Given the description of an element on the screen output the (x, y) to click on. 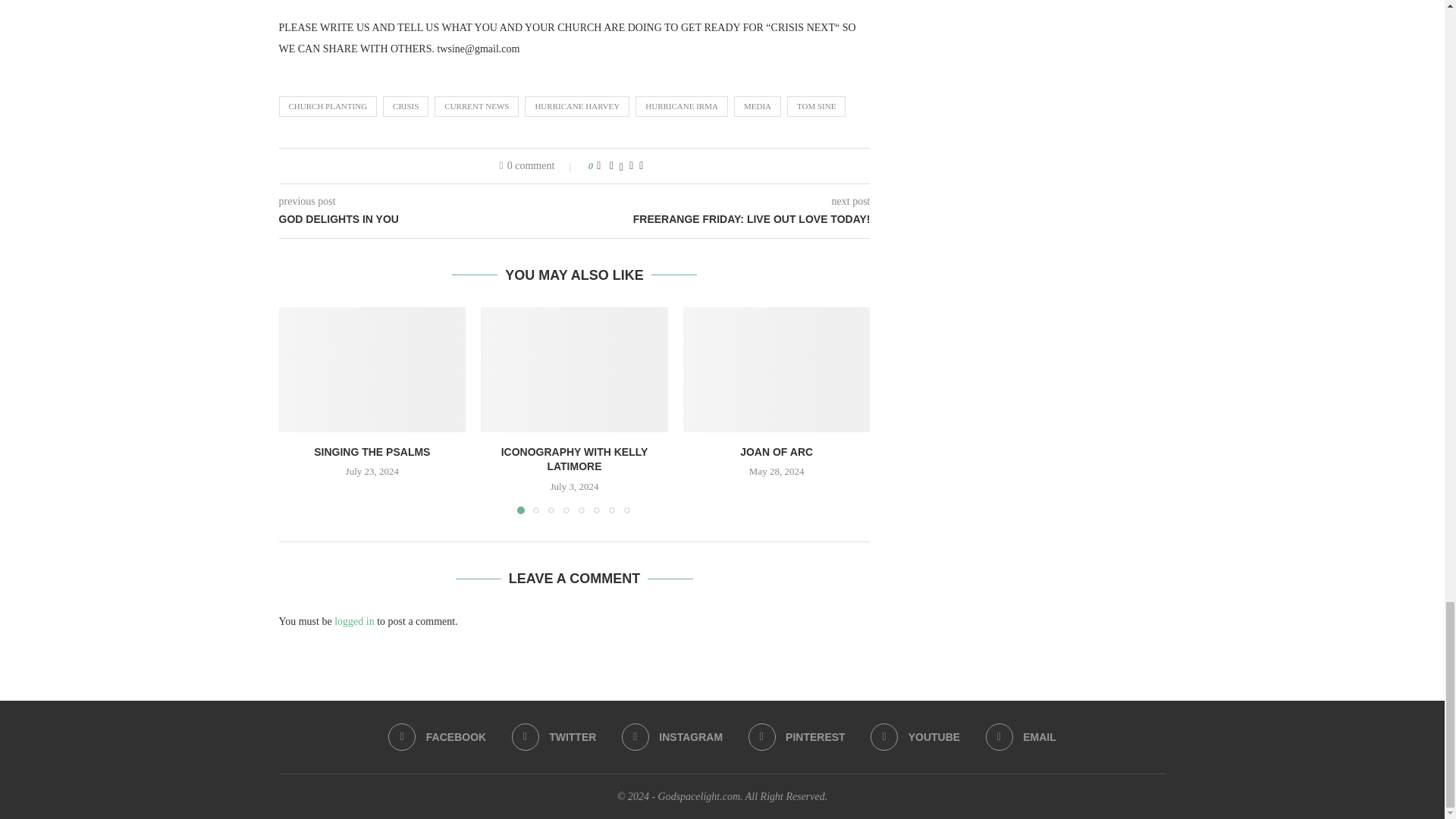
Singing the Psalms (372, 369)
Joan of Arc (776, 369)
Iconography with Kelly Latimore (574, 369)
